Given the description of an element on the screen output the (x, y) to click on. 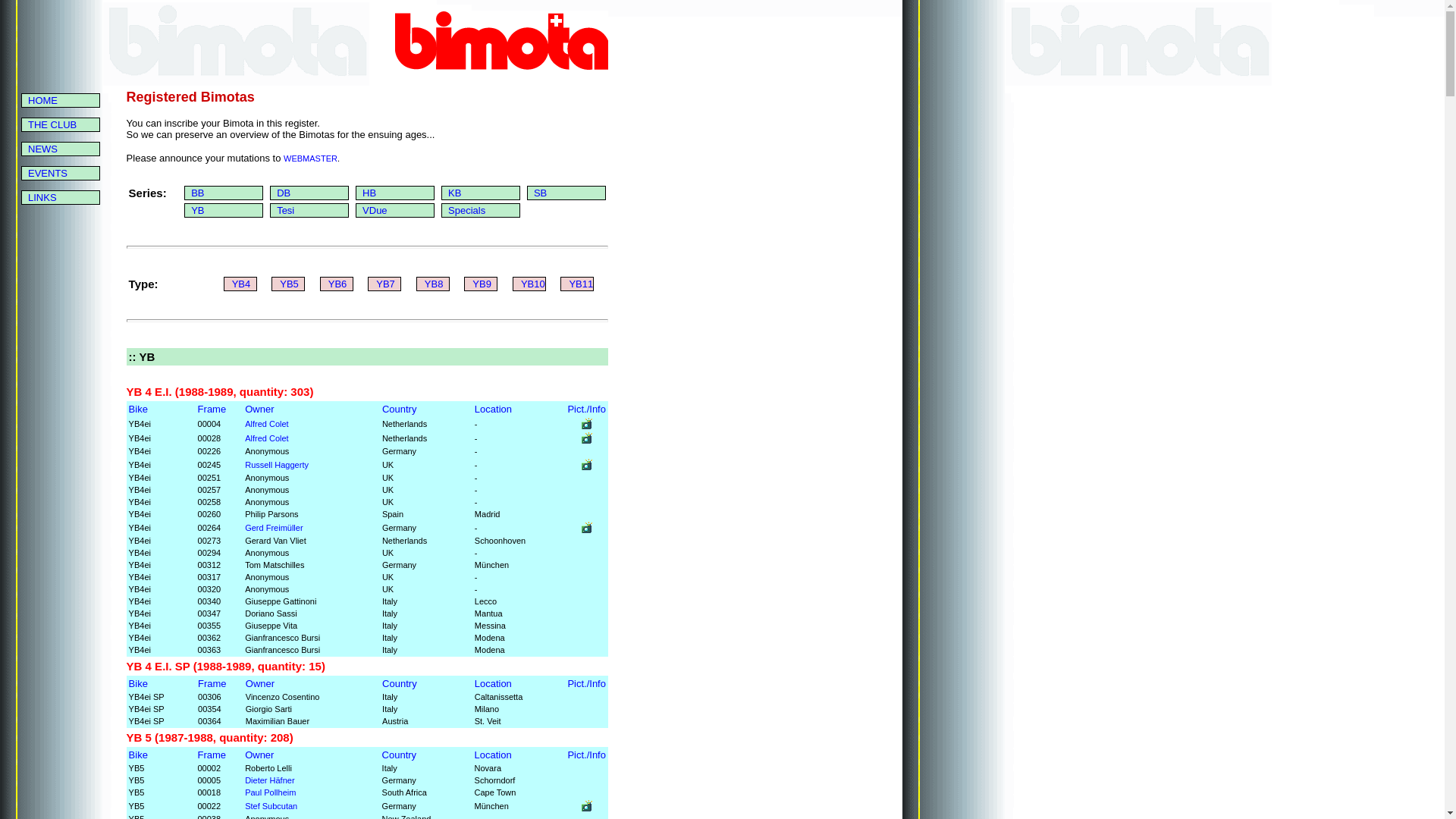
VDue Element type: text (374, 210)
Specials Element type: text (466, 210)
YB11 Element type: text (580, 283)
LINKS Element type: text (42, 196)
YB8 Element type: text (433, 283)
THE CLUB Element type: text (52, 123)
Russell Haggerty Element type: text (276, 463)
YB4 Element type: text (241, 283)
YB Element type: text (197, 210)
SB Element type: text (539, 192)
YB6 Element type: text (337, 283)
DB Element type: text (283, 192)
Alfred Colet Element type: text (266, 422)
HOME Element type: text (42, 99)
Paul Pollheim Element type: text (269, 792)
YB5 Element type: text (288, 283)
KB Element type: text (454, 192)
EVENTS Element type: text (47, 172)
YB10 Element type: text (532, 283)
Alfred Colet Element type: text (266, 437)
WEBMASTER Element type: text (310, 158)
Stef Subcutan Element type: text (270, 804)
YB 5 (1987-1988, quantity: 208) Element type: text (209, 737)
HB Element type: text (369, 192)
YB7 Element type: text (385, 283)
YB 4 E.I. (1988-1989, quantity: 303) Element type: text (219, 391)
Tesi Element type: text (285, 210)
BB Element type: text (197, 192)
YB9 Element type: text (481, 283)
NEWS Element type: text (42, 147)
